Given the description of an element on the screen output the (x, y) to click on. 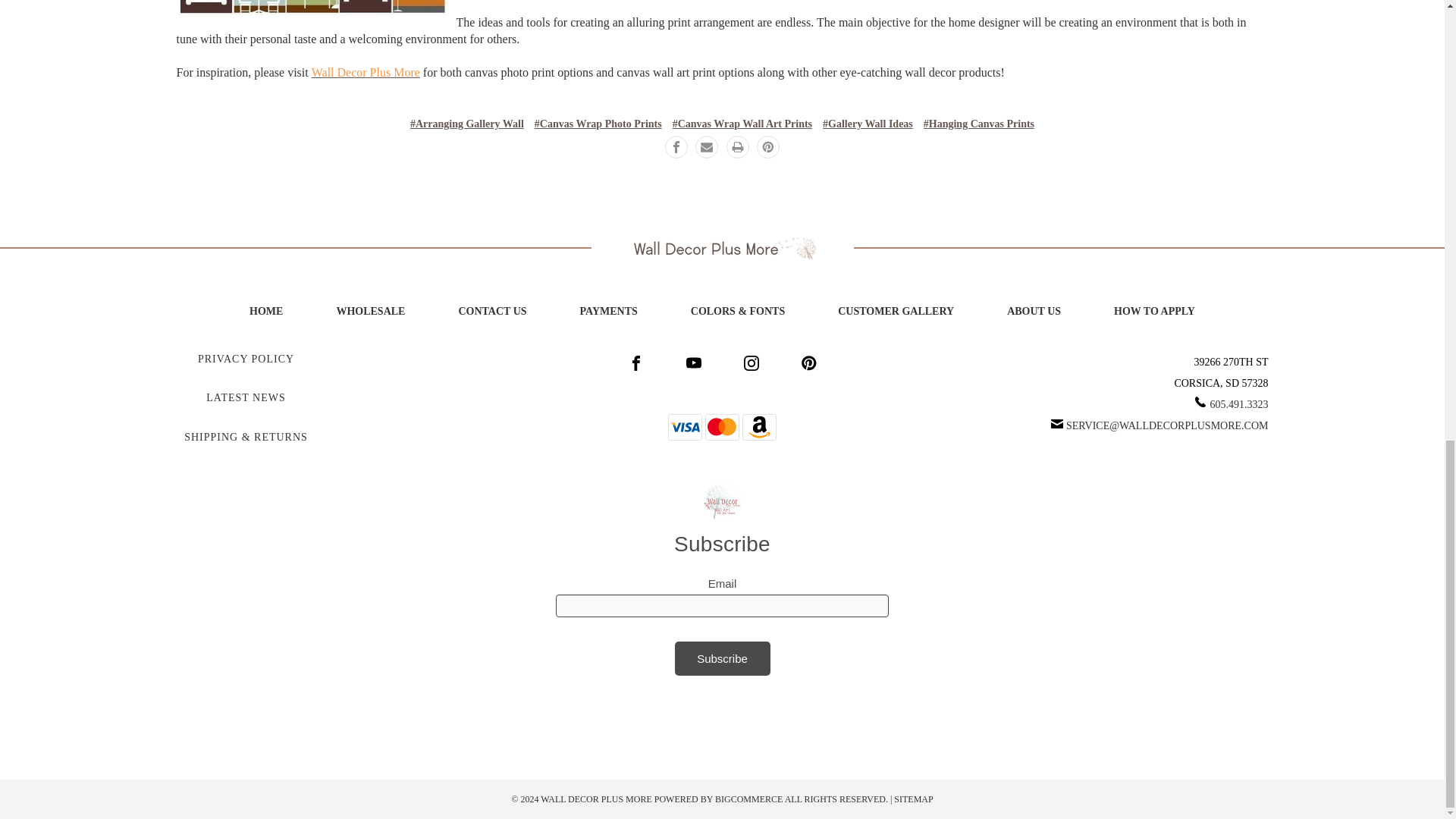
Print (737, 146)
Email (706, 146)
Facebook (676, 146)
Wall Decor Plus More (722, 248)
Pinterest (767, 146)
